Given the description of an element on the screen output the (x, y) to click on. 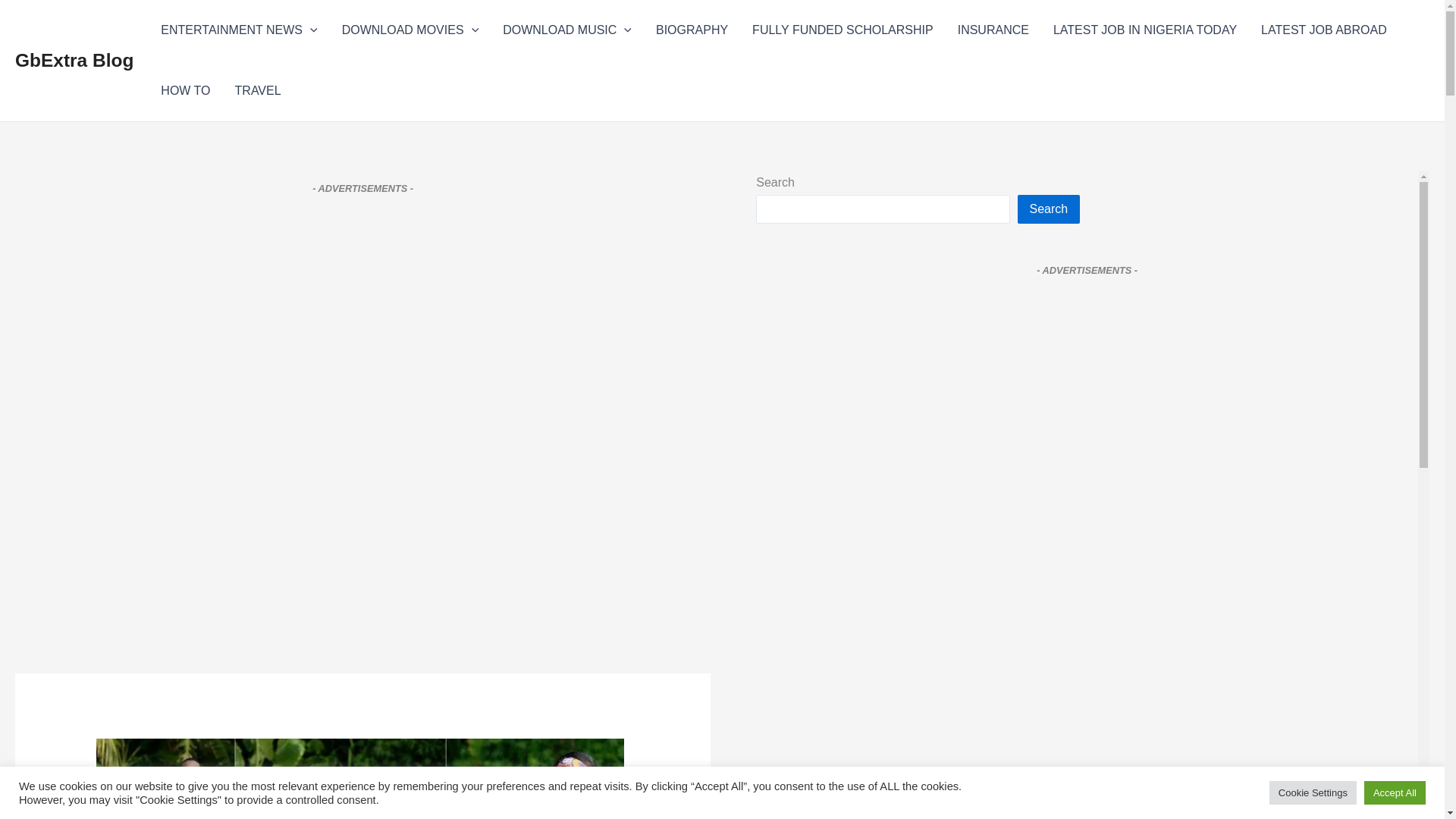
TRAVEL (258, 90)
Advertisement (1087, 788)
LATEST JOB ABROAD (1324, 30)
GbExtra Blog (73, 59)
HOW TO (185, 90)
BIOGRAPHY (691, 30)
DOWNLOAD MOVIES (411, 30)
LATEST JOB IN NIGERIA TODAY (1145, 30)
FULLY FUNDED SCHOLARSHIP (841, 30)
ENTERTAINMENT NEWS (238, 30)
INSURANCE (992, 30)
DOWNLOAD MUSIC (566, 30)
